Given the description of an element on the screen output the (x, y) to click on. 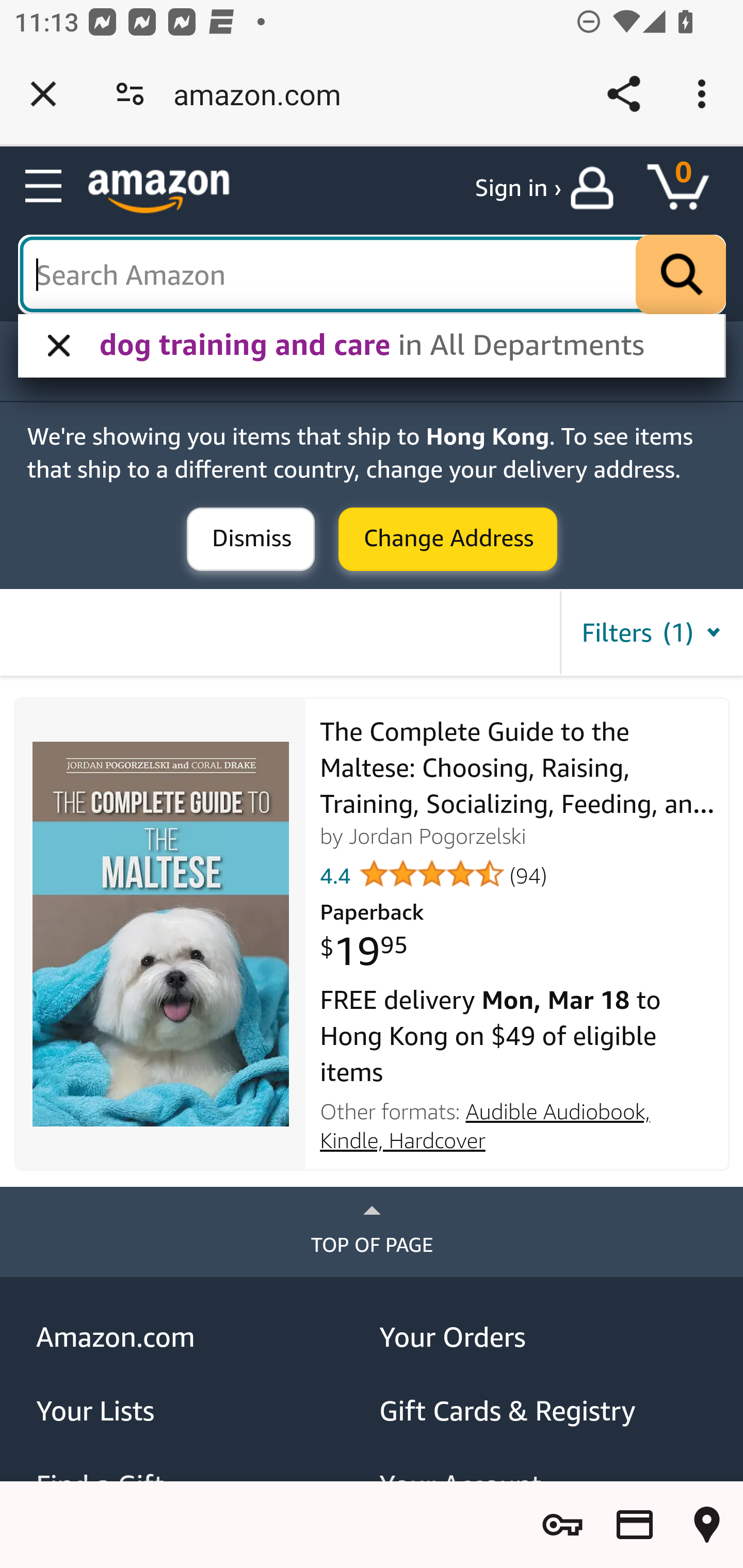
Close tab (43, 93)
Share (623, 93)
Customize and control Google Chrome (705, 93)
Connection is secure (129, 93)
amazon.com (264, 93)
Open Menu (44, 187)
Sign in › (518, 188)
your account (596, 188)
Cart 0 (687, 188)
Amazon (158, 191)
Clear search keywords (372, 275)
Go (681, 275)
delete (50, 346)
dog training and care (395, 346)
Submit (250, 539)
Submit (447, 539)
Filters (1) (651, 632)
Top of page TOP OF PAGE (371, 1231)
Amazon.com (201, 1336)
Your Orders (543, 1336)
Your Lists (201, 1410)
Gift Cards & Registry (543, 1410)
Show saved passwords and password options (562, 1524)
Show saved payment methods (634, 1524)
Show saved addresses (706, 1524)
